Given the description of an element on the screen output the (x, y) to click on. 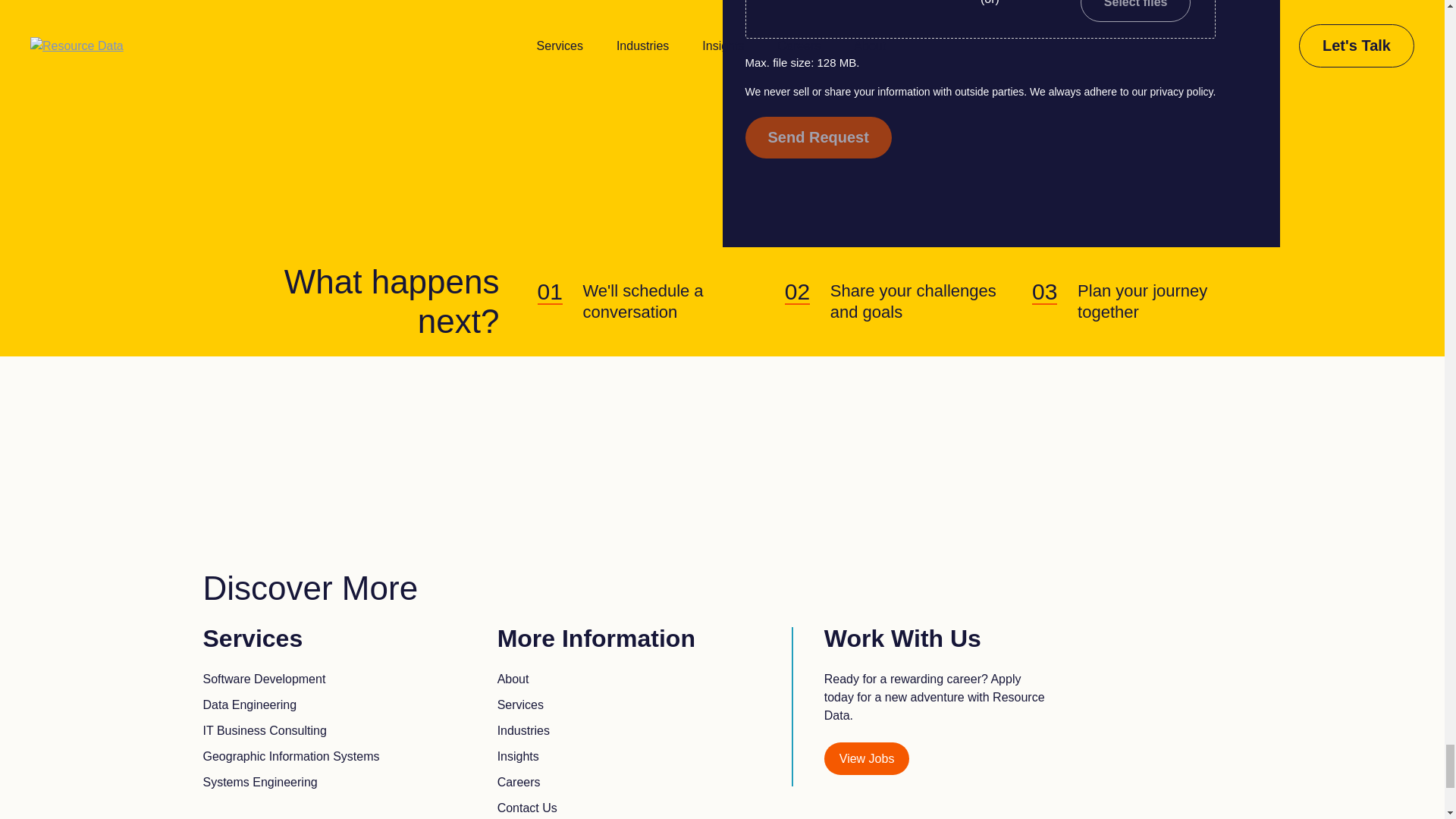
Send Request (817, 137)
